Given the description of an element on the screen output the (x, y) to click on. 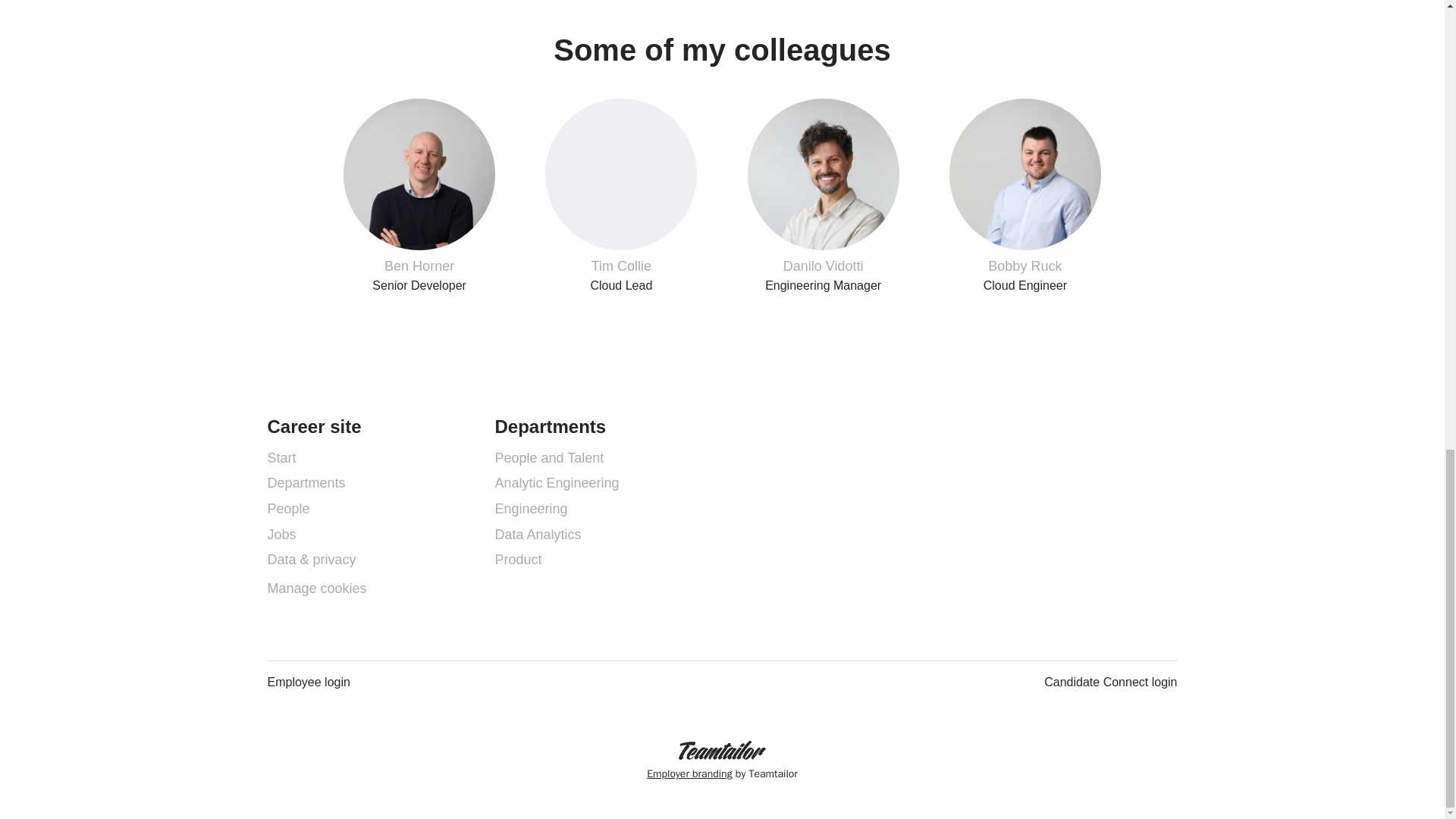
Departments (305, 482)
Engineering (531, 508)
Candidate Connect login (1109, 682)
Analytic Engineering (556, 482)
Start (280, 457)
Jobs (1024, 196)
People and Talent (280, 534)
Employee login (549, 457)
Data Analytics (307, 682)
People (537, 534)
Product (822, 196)
Employer branding by Teamtailor (287, 508)
